Given the description of an element on the screen output the (x, y) to click on. 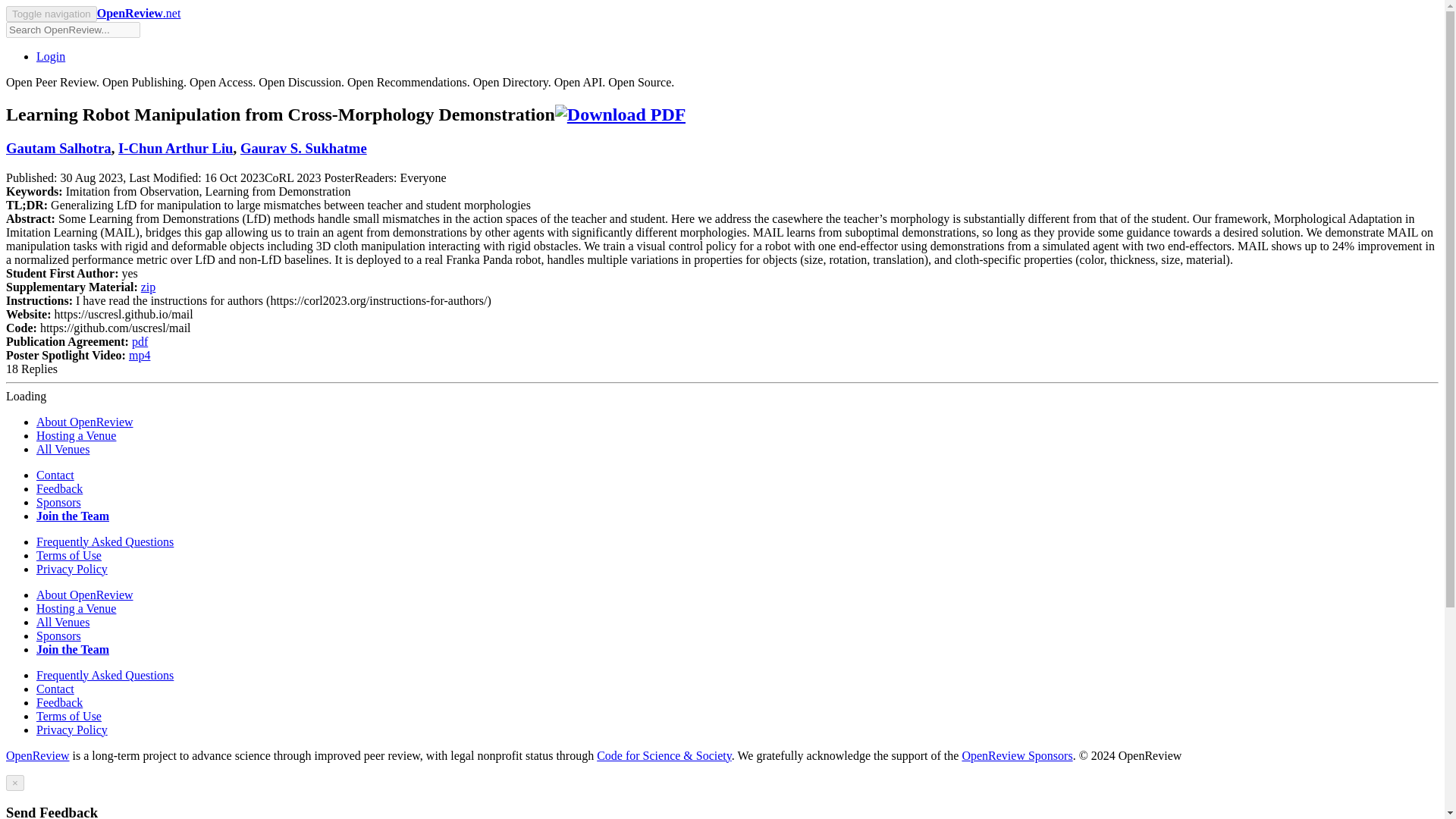
Sponsors (58, 635)
Hosting a Venue (76, 435)
Download Poster Spotlight Video (139, 354)
Frequently Asked Questions (104, 675)
mp4 (139, 354)
Feedback (59, 488)
zip (148, 286)
OpenReview (37, 755)
Contact (55, 474)
Download Publication Agreement (140, 341)
I-Chun Arthur Liu (174, 148)
Privacy Policy (71, 729)
Feedback (59, 702)
Join the Team (72, 649)
pdf (140, 341)
